Given the description of an element on the screen output the (x, y) to click on. 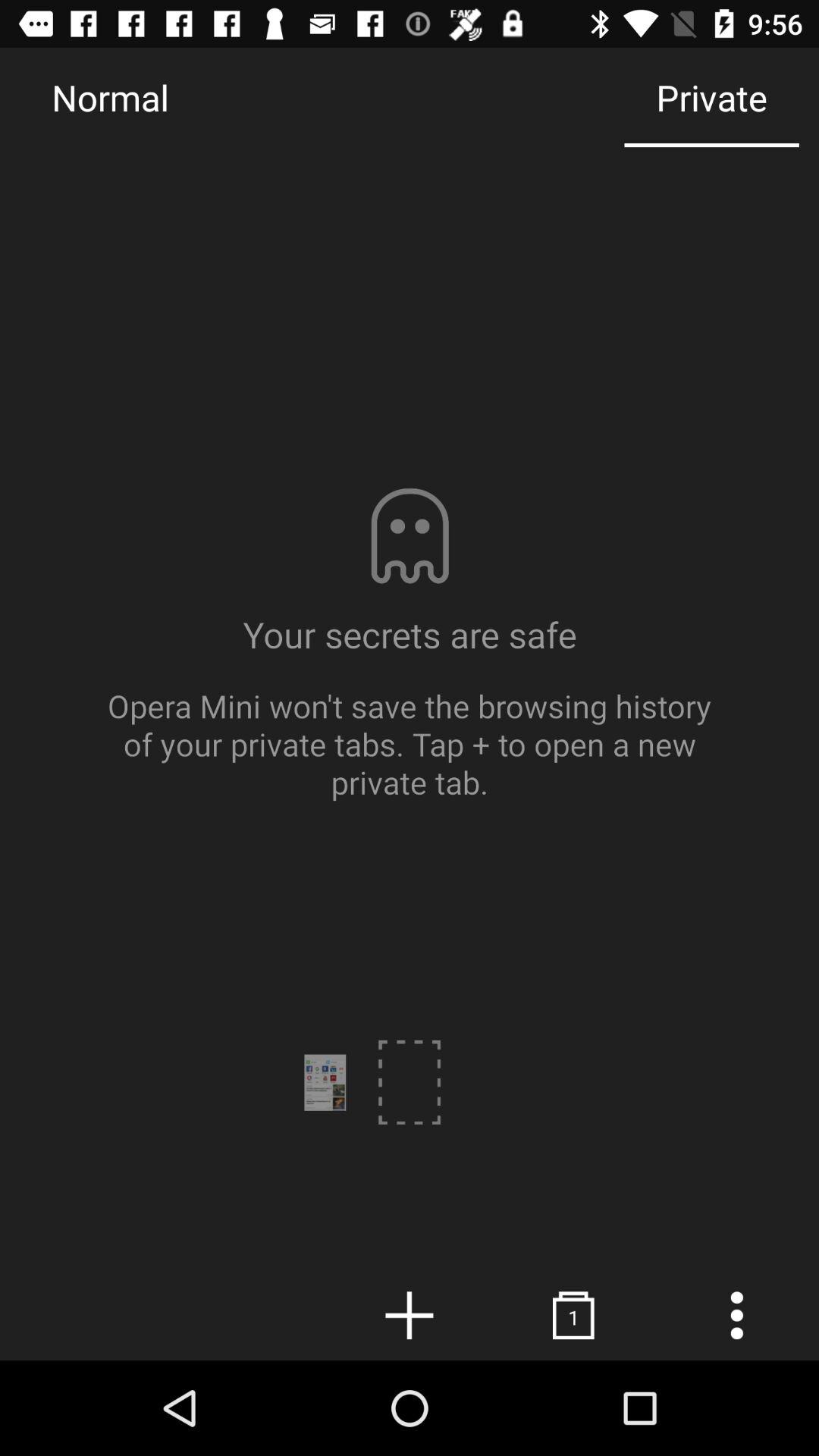
flip to the private (711, 97)
